Given the description of an element on the screen output the (x, y) to click on. 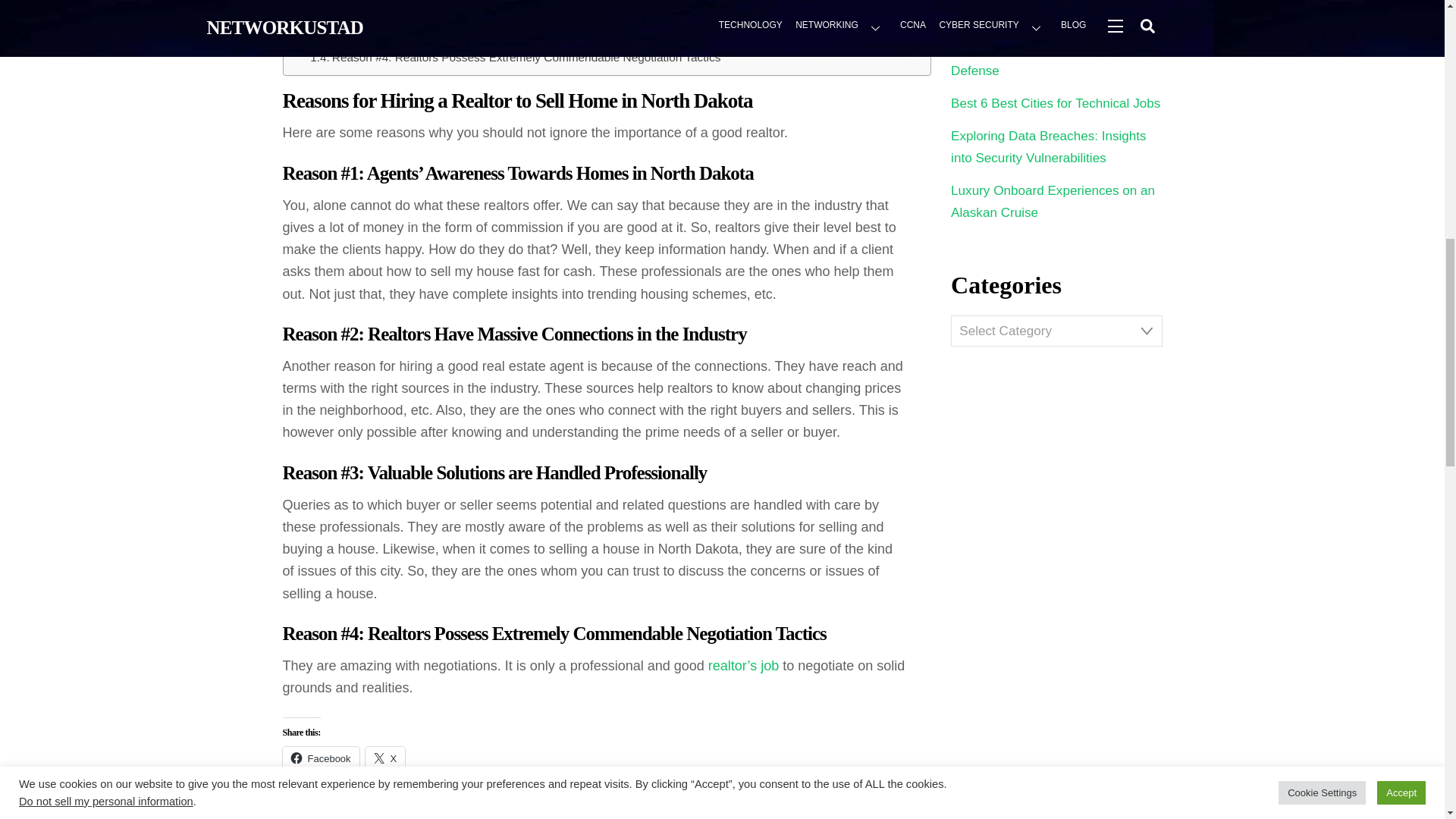
Click to share on X (385, 757)
X (385, 757)
Click to share on Facebook (320, 757)
Facebook (320, 757)
